Given the description of an element on the screen output the (x, y) to click on. 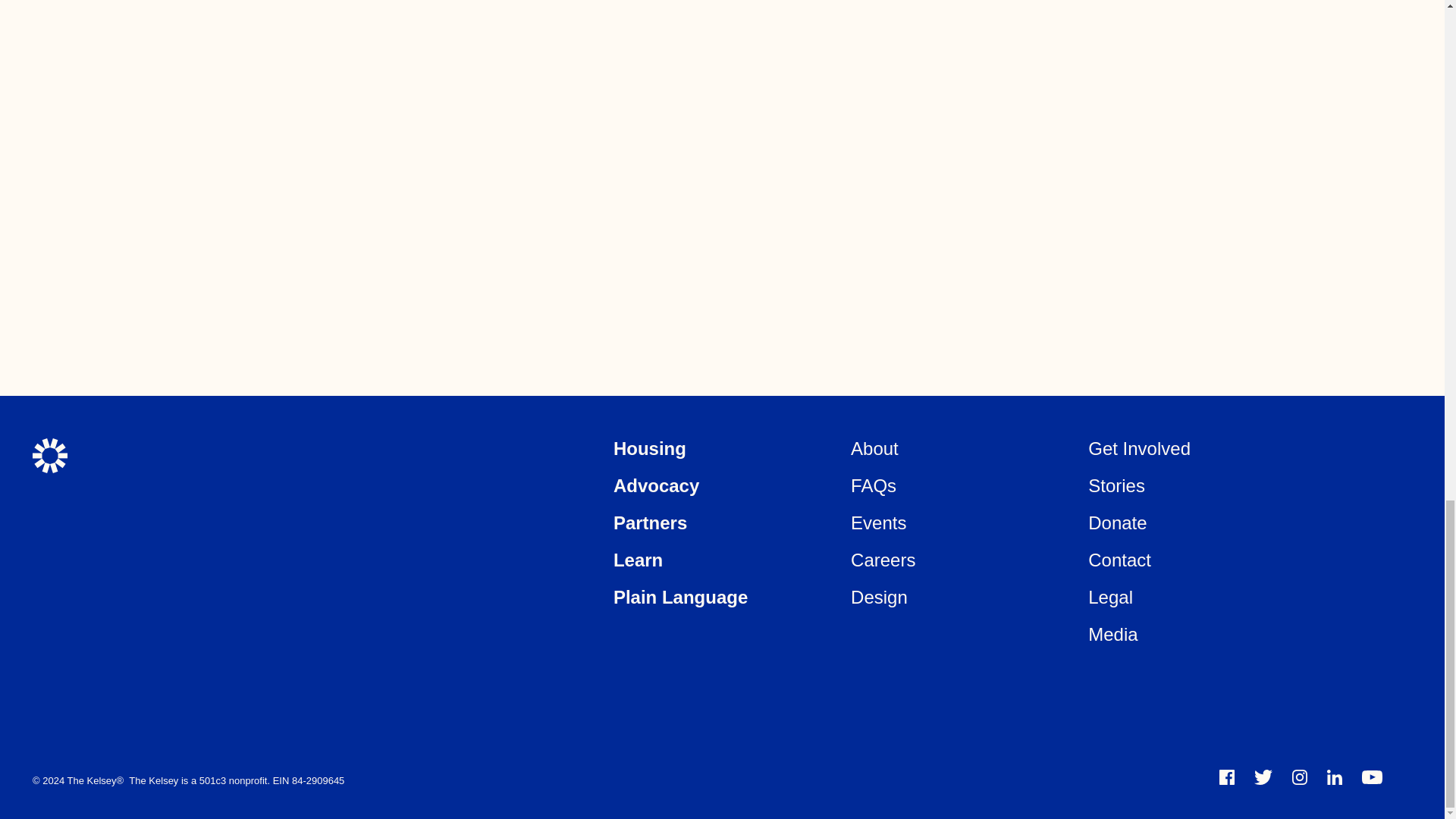
Plain Language (680, 597)
About (874, 448)
Advocacy (655, 485)
Partners (649, 522)
Design (878, 597)
Housing (648, 448)
Events (877, 522)
Get Involved (1139, 448)
Learn (637, 559)
Careers (882, 559)
FAQs (873, 485)
